Given the description of an element on the screen output the (x, y) to click on. 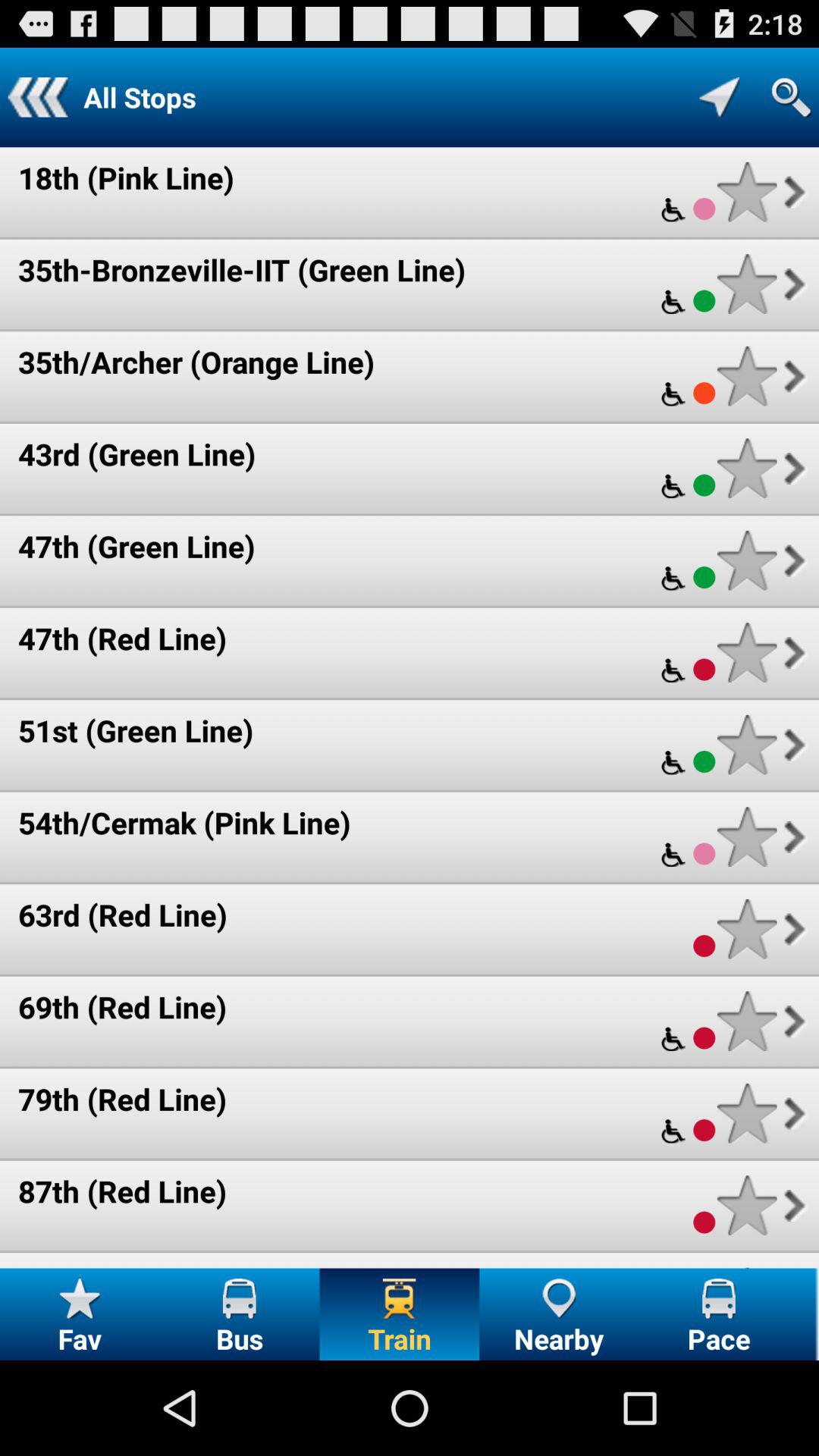
save train stop (746, 1113)
